Given the description of an element on the screen output the (x, y) to click on. 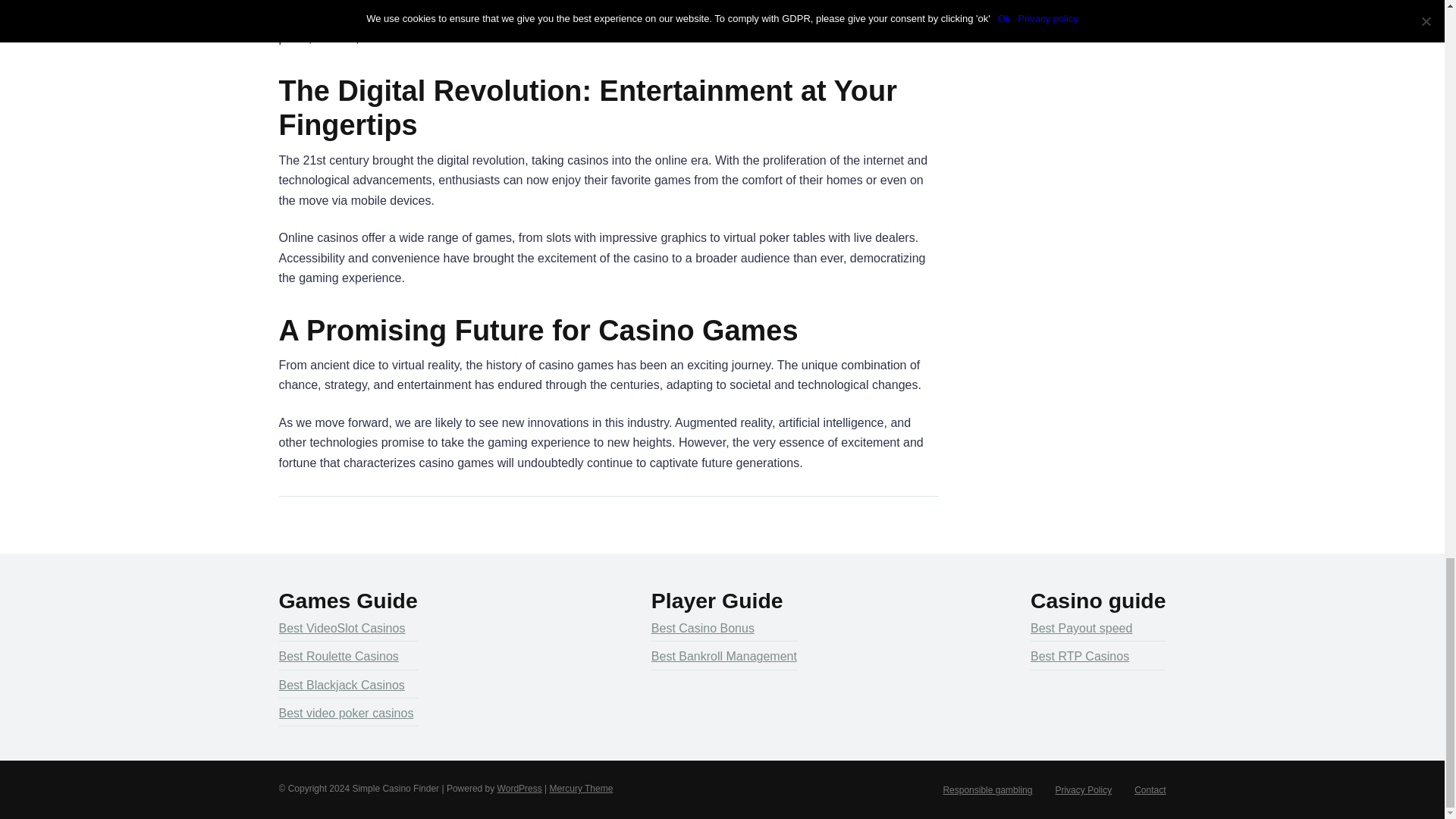
Best Casino Bonus (702, 626)
Best video poker casinos (346, 712)
Affiliate Marketing WordPress Theme. Reviews and Top Lists (581, 787)
Best VideoSlot Casinos (342, 626)
Best Blackjack Casinos (341, 683)
Best Bankroll Management (723, 654)
Privacy Policy (1083, 789)
Best RTP Casinos (1079, 654)
Mercury Theme (581, 787)
WordPress (519, 787)
Responsible gambling (987, 789)
Contact (1150, 789)
WordPress (519, 787)
Best Payout speed (1081, 626)
Best Roulette Casinos (338, 654)
